Given the description of an element on the screen output the (x, y) to click on. 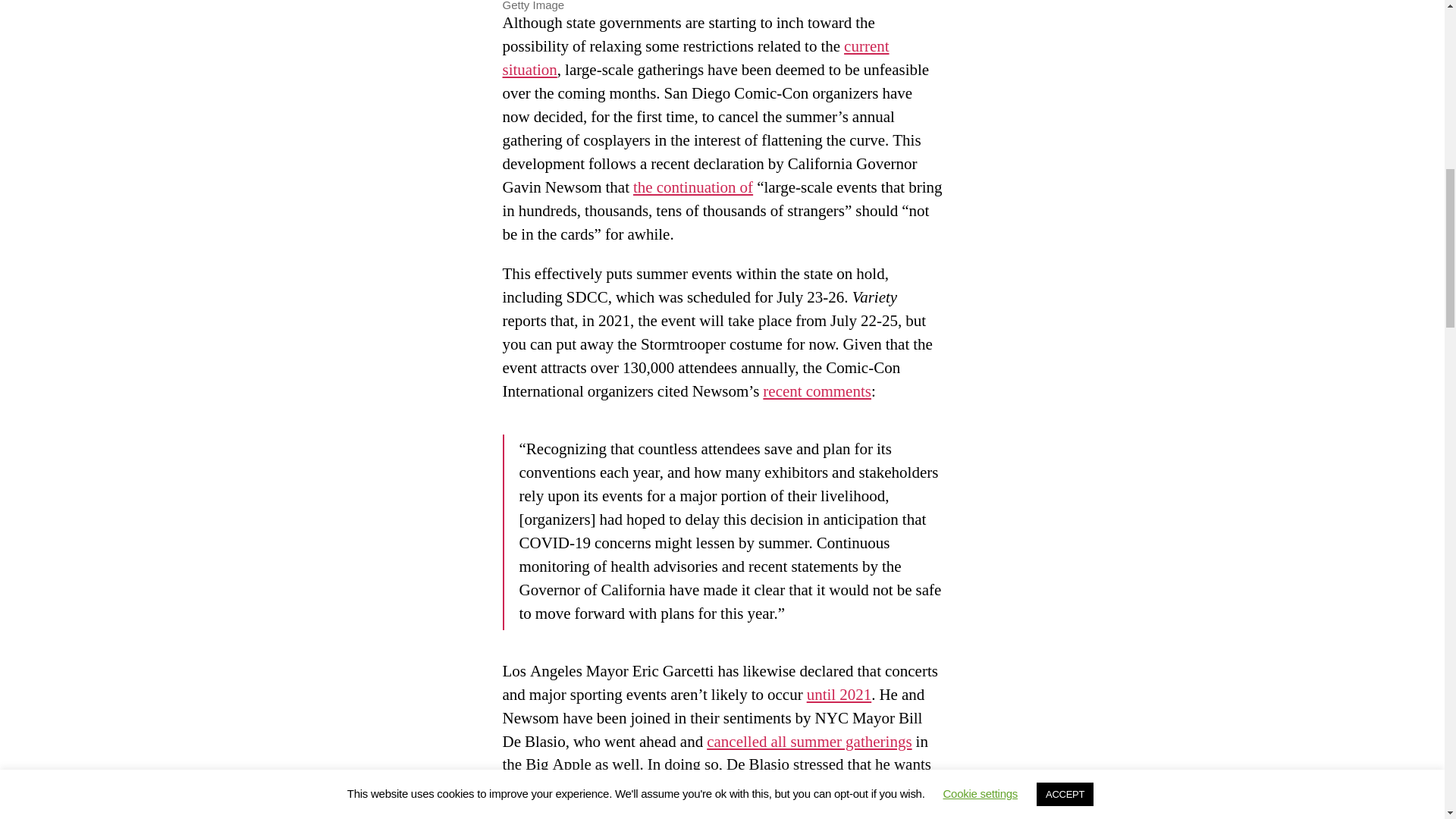
current situation (695, 58)
the continuation of (692, 187)
recent comments (816, 391)
until 2021 (839, 694)
cancelled all summer gatherings (808, 741)
